Given the description of an element on the screen output the (x, y) to click on. 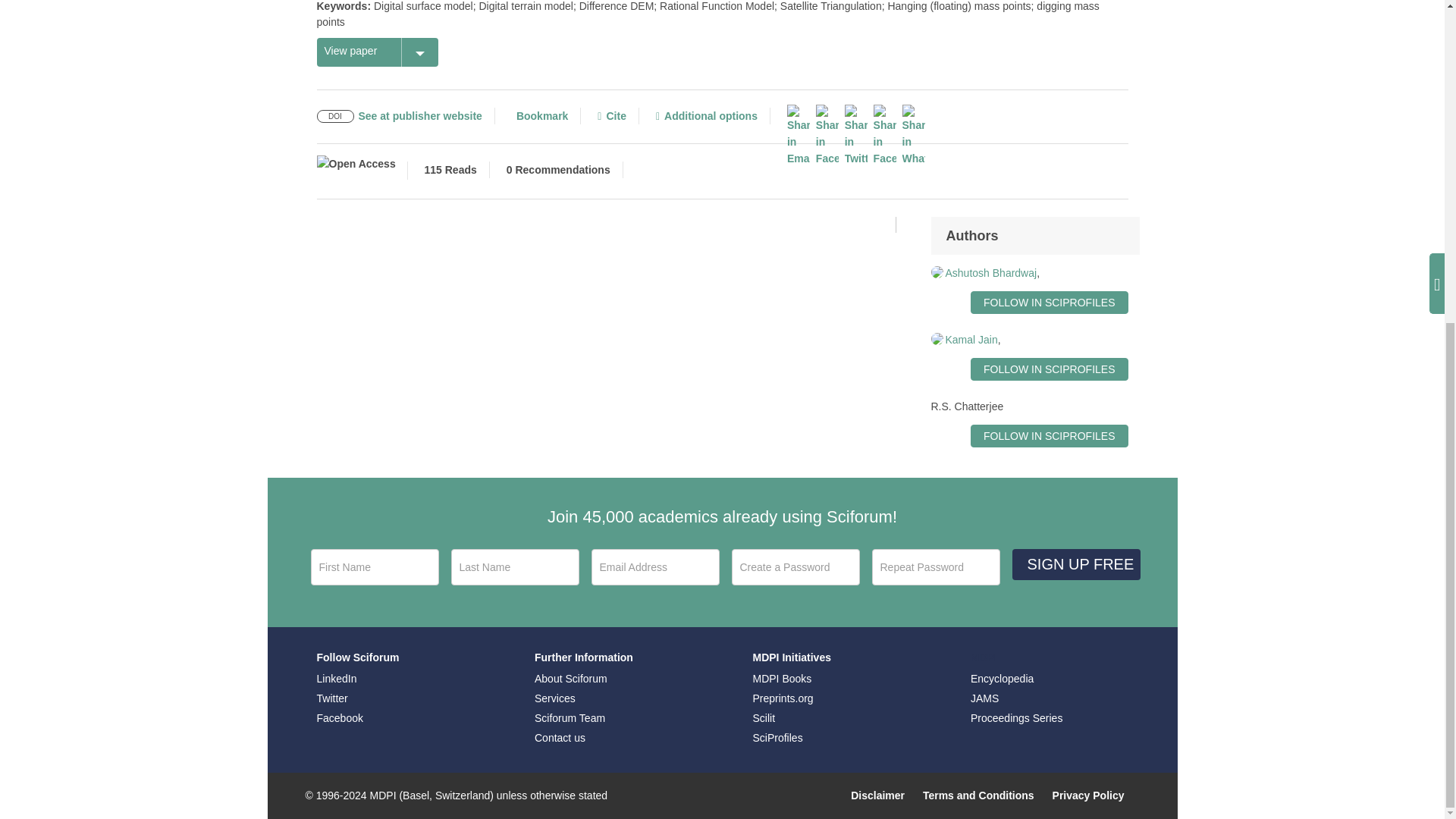
First name (375, 566)
Email (655, 566)
Sign Up Free (1075, 563)
Confirm password (936, 566)
Last name (513, 566)
